Given the description of an element on the screen output the (x, y) to click on. 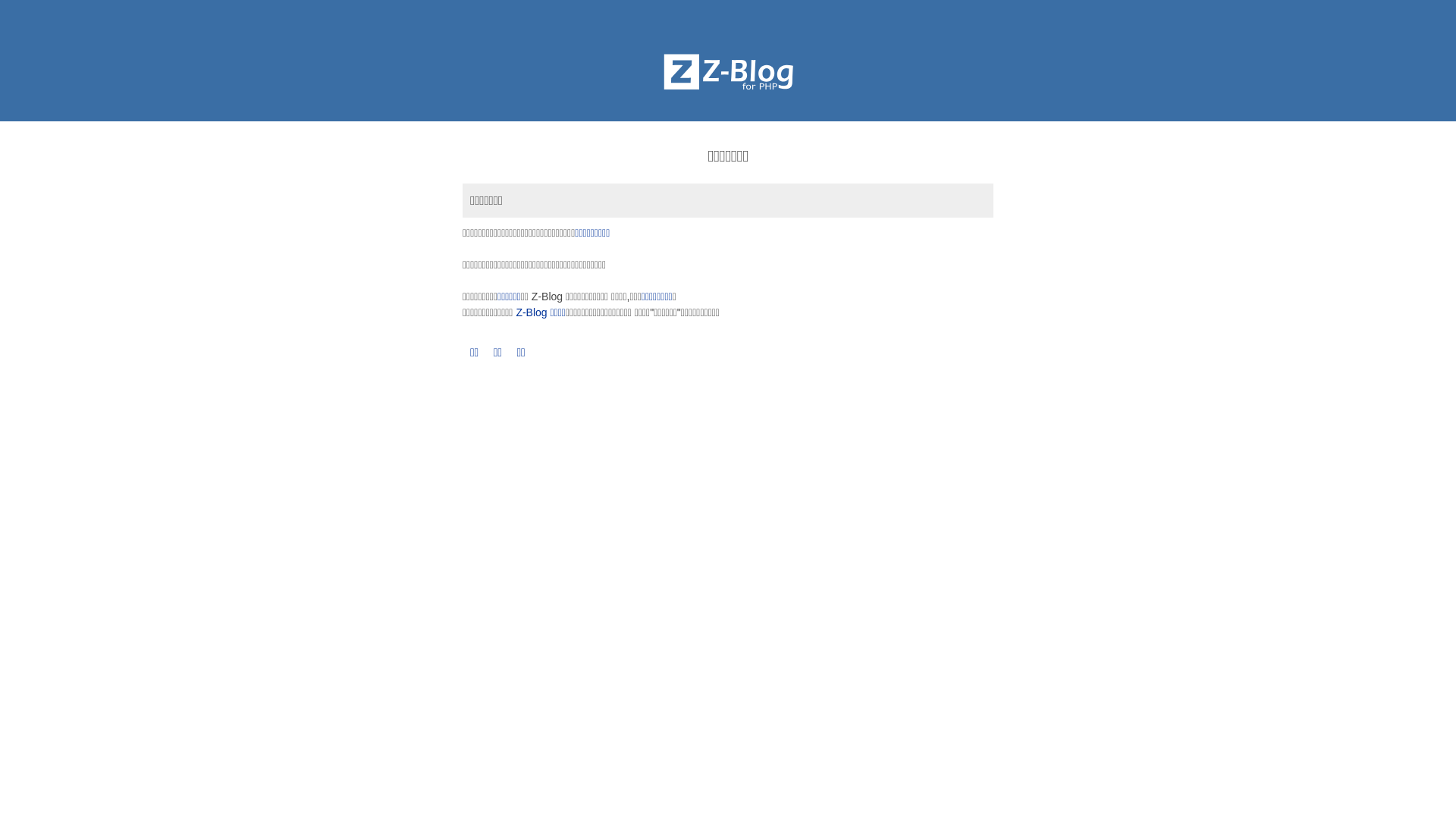
Z-BlogPHP Element type: hover (727, 71)
